Given the description of an element on the screen output the (x, y) to click on. 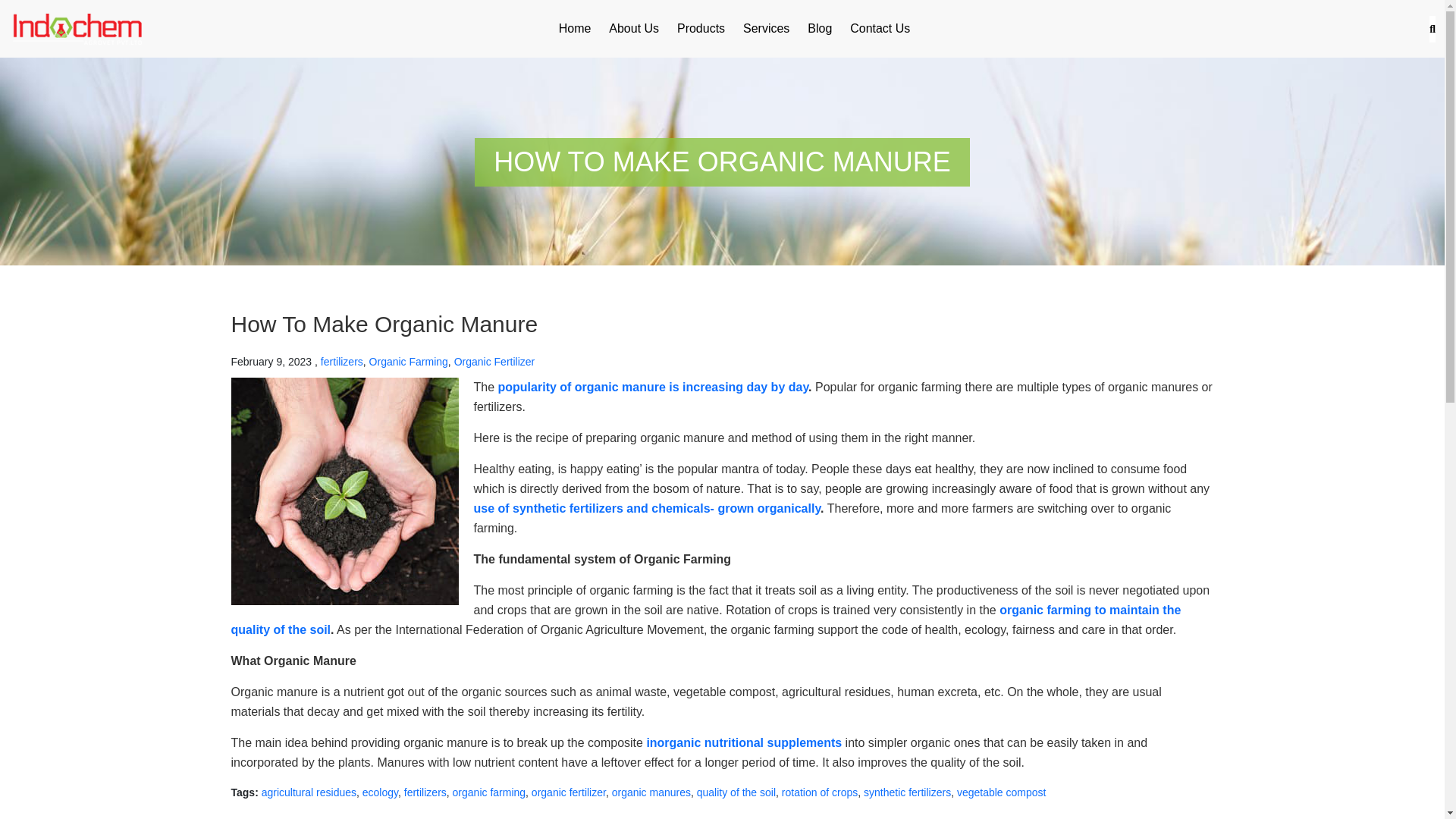
Home (574, 28)
Products (700, 28)
inorganic nutritional supplements (743, 742)
Services (765, 28)
Contact Us (880, 28)
agricultural residues (309, 792)
Blog (819, 28)
popularity of organic manure is increasing day by day (653, 386)
organic farming to maintain the quality of the soil (705, 619)
fertilizers (341, 361)
